Given the description of an element on the screen output the (x, y) to click on. 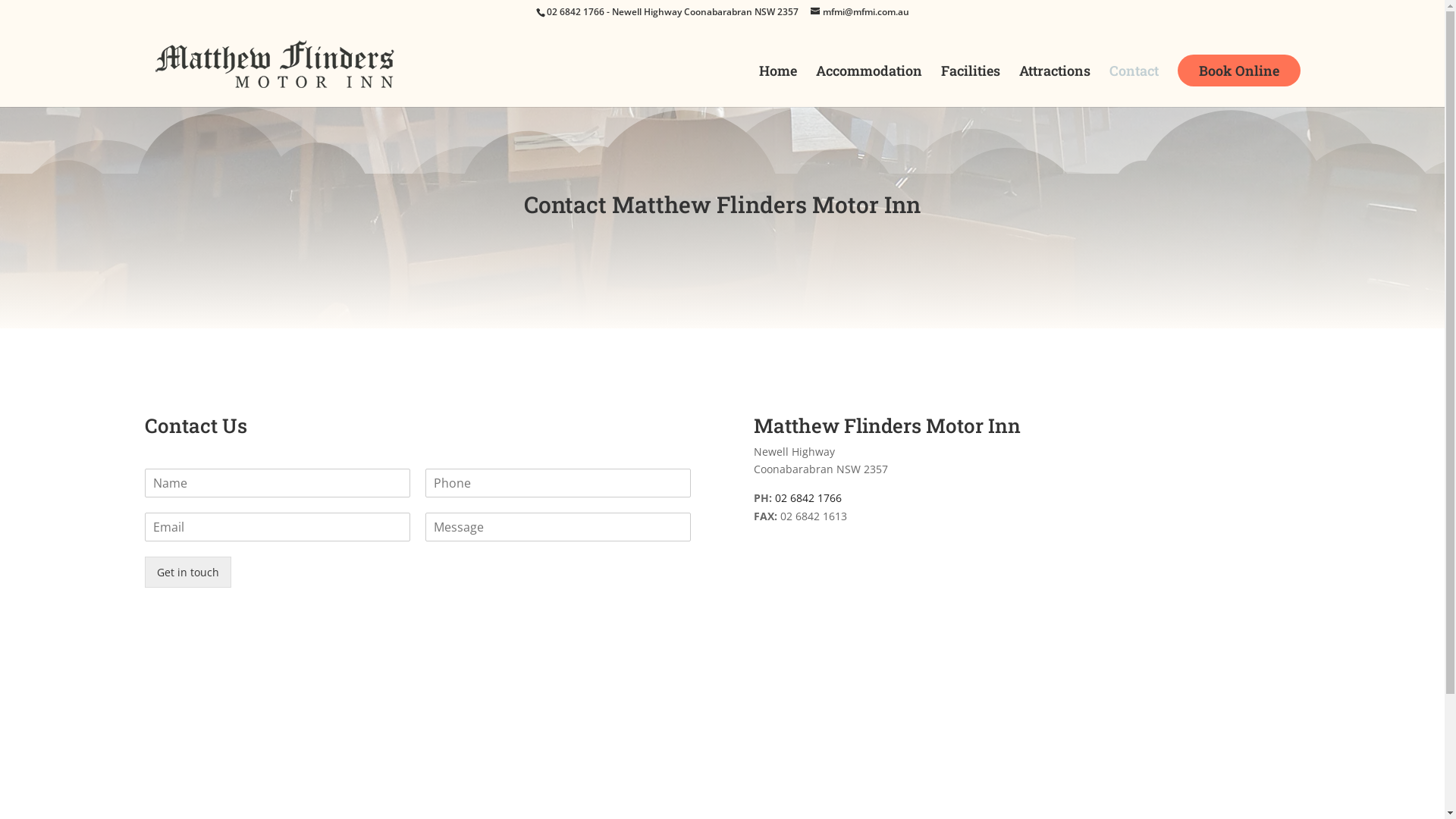
Get in touch Element type: text (187, 571)
Facilities Element type: text (969, 85)
Home Element type: text (777, 85)
Accommodation Element type: text (868, 85)
Attractions Element type: text (1054, 85)
02 6842 1766 Element type: text (808, 497)
02 6842 1766 Element type: text (574, 11)
Contact Element type: text (1132, 85)
mfmi@mfmi.com.au Element type: text (858, 11)
Book Online Element type: text (1237, 70)
